Given the description of an element on the screen output the (x, y) to click on. 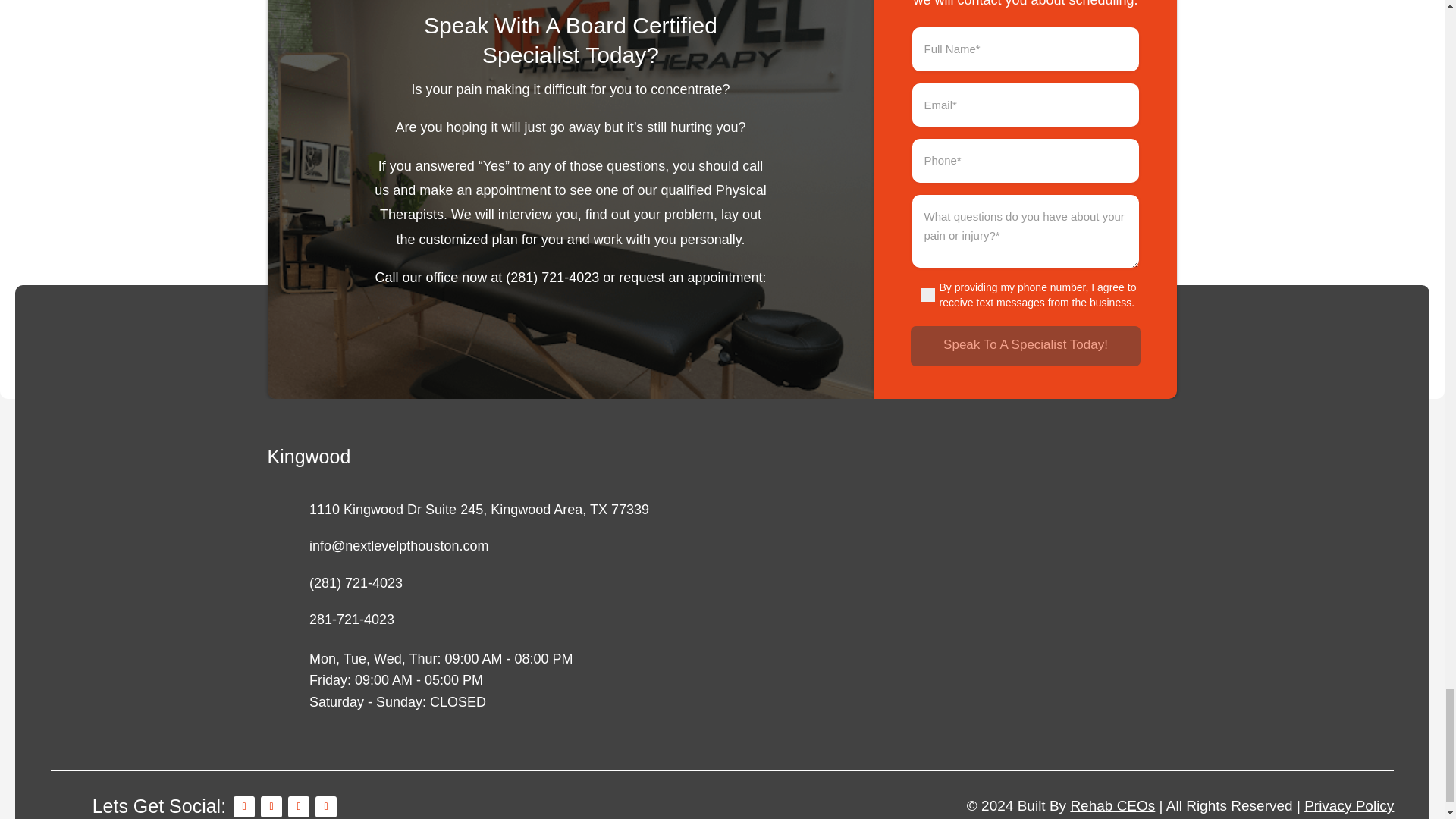
Follow on Facebook (243, 806)
Follow on LinkedIn (298, 806)
Speak To A Specialist Today! (1024, 344)
Follow on Youtube (325, 806)
Follow on Instagram (271, 806)
